Given the description of an element on the screen output the (x, y) to click on. 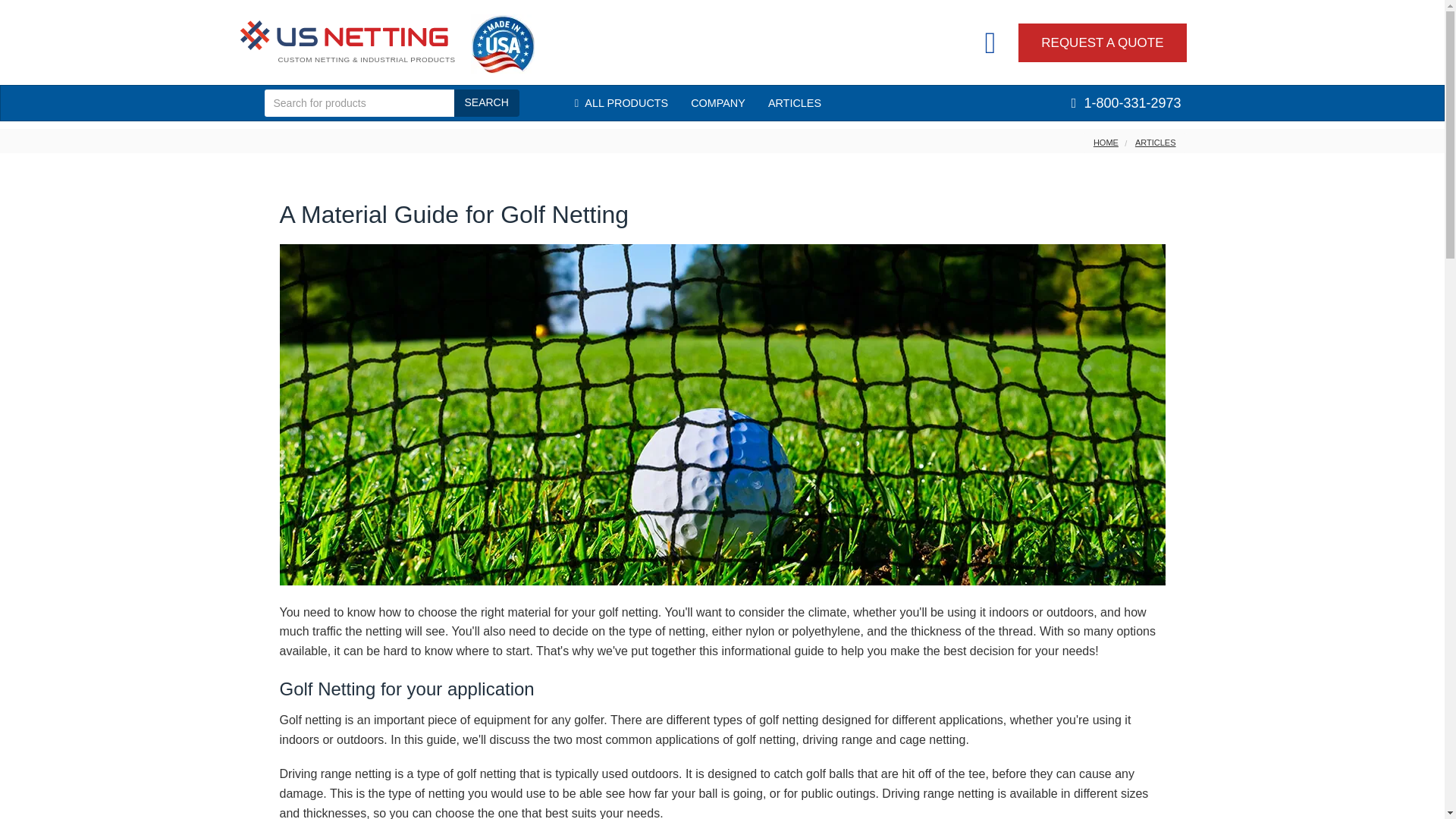
Learn About US Netting (718, 102)
1-800-331-2973 (1125, 102)
Netting Articles (794, 102)
ALL PRODUCTS (621, 102)
SEARCH (485, 103)
REQUEST A QUOTE (1101, 42)
COMPANY (718, 102)
ARTICLES (794, 102)
